Given the description of an element on the screen output the (x, y) to click on. 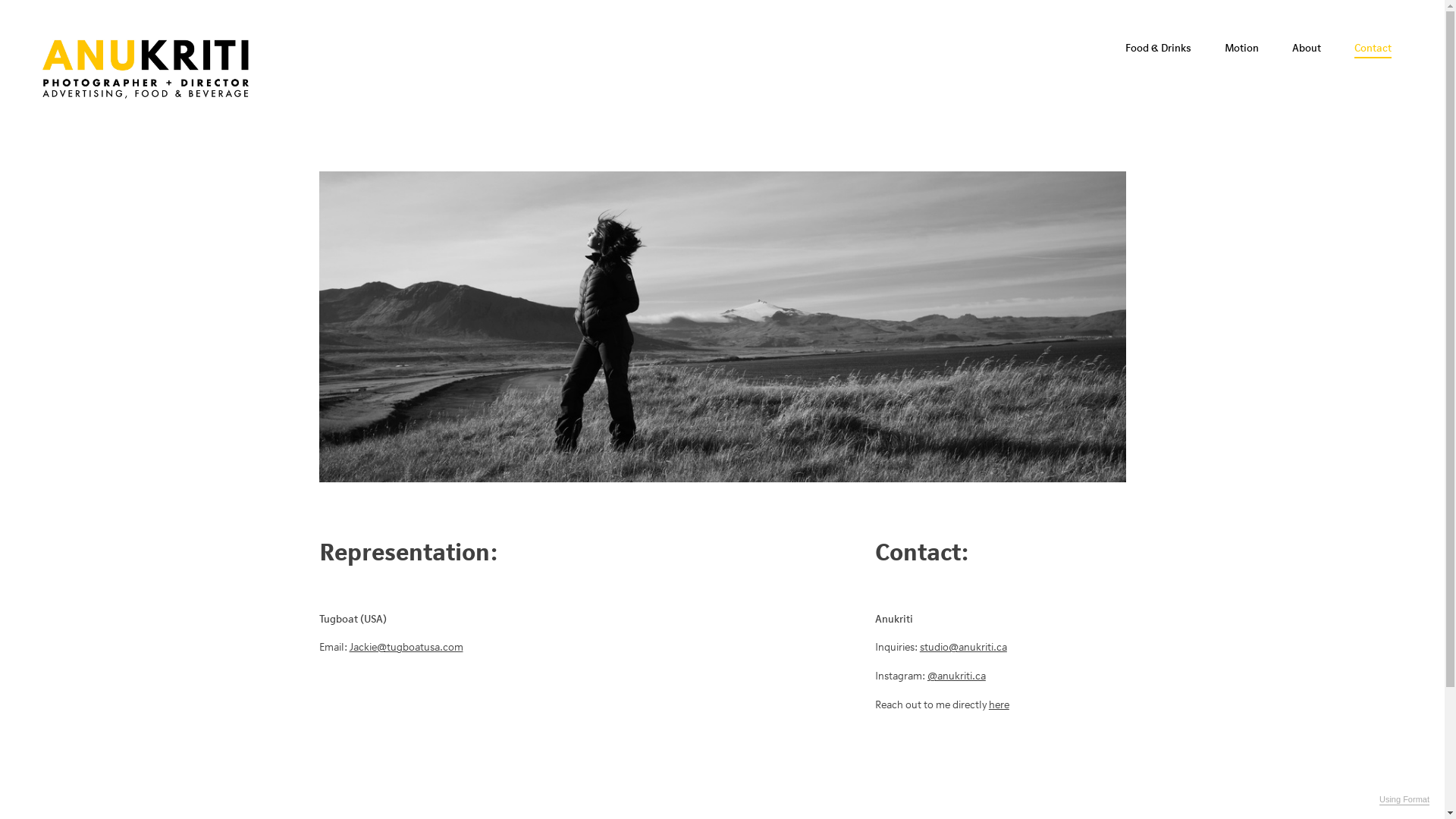
About Element type: text (1306, 47)
Motion Element type: text (1241, 47)
Using Format Element type: text (1404, 799)
Food & Drinks Element type: text (1158, 47)
Jackie@tugboatusa.com Element type: text (405, 646)
here Element type: text (998, 704)
Contact Element type: text (1372, 48)
@anukriti.ca Element type: text (956, 675)
studio@anukriti.ca Element type: text (963, 646)
